Given the description of an element on the screen output the (x, y) to click on. 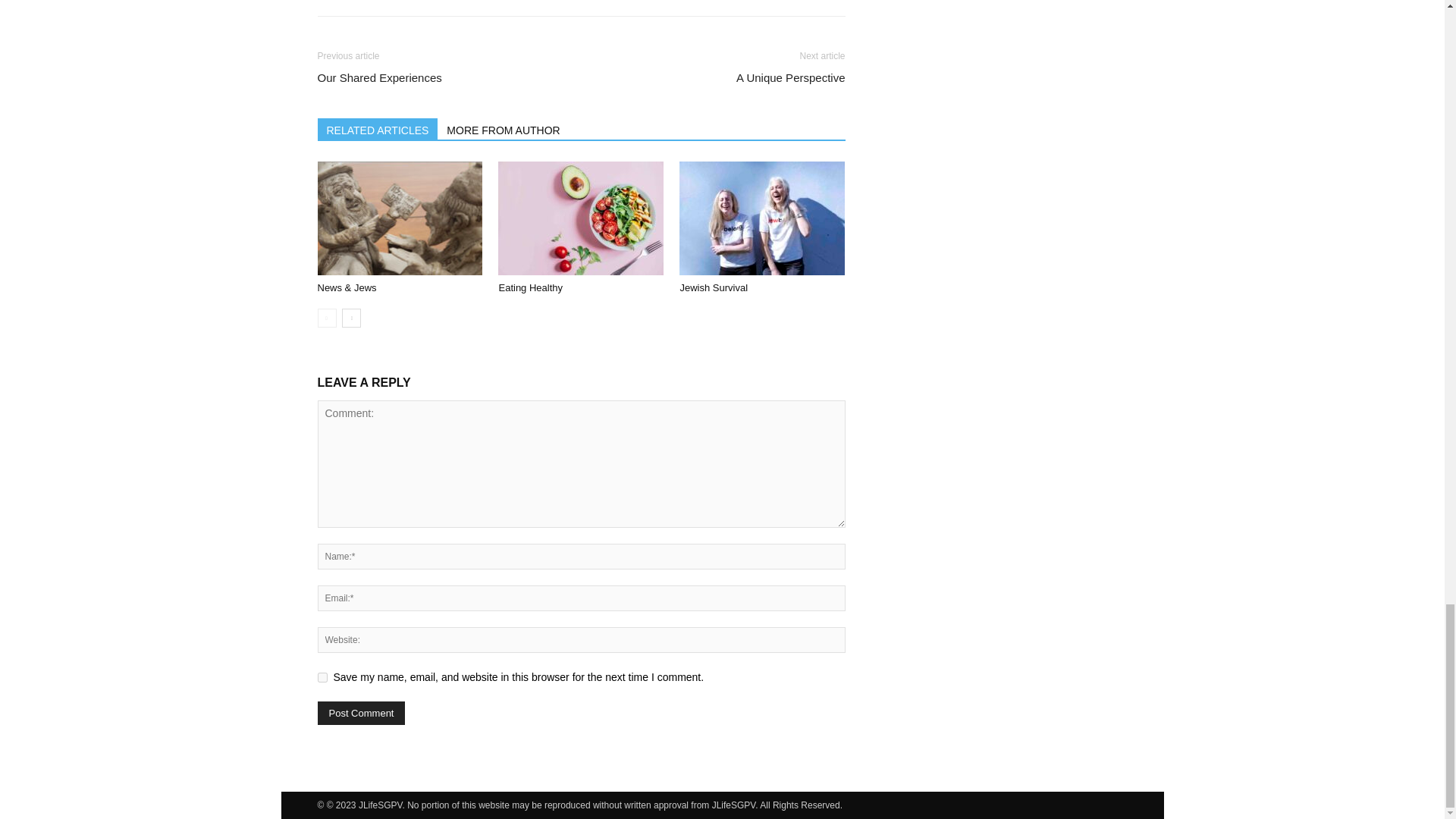
yes (321, 677)
Eating Healthy (580, 218)
A Unique Perspective (790, 77)
Jewish Survival (761, 218)
Eating Healthy (529, 287)
Our Shared Experiences (379, 77)
Post Comment (360, 712)
Jewish Survival (713, 287)
